Given the description of an element on the screen output the (x, y) to click on. 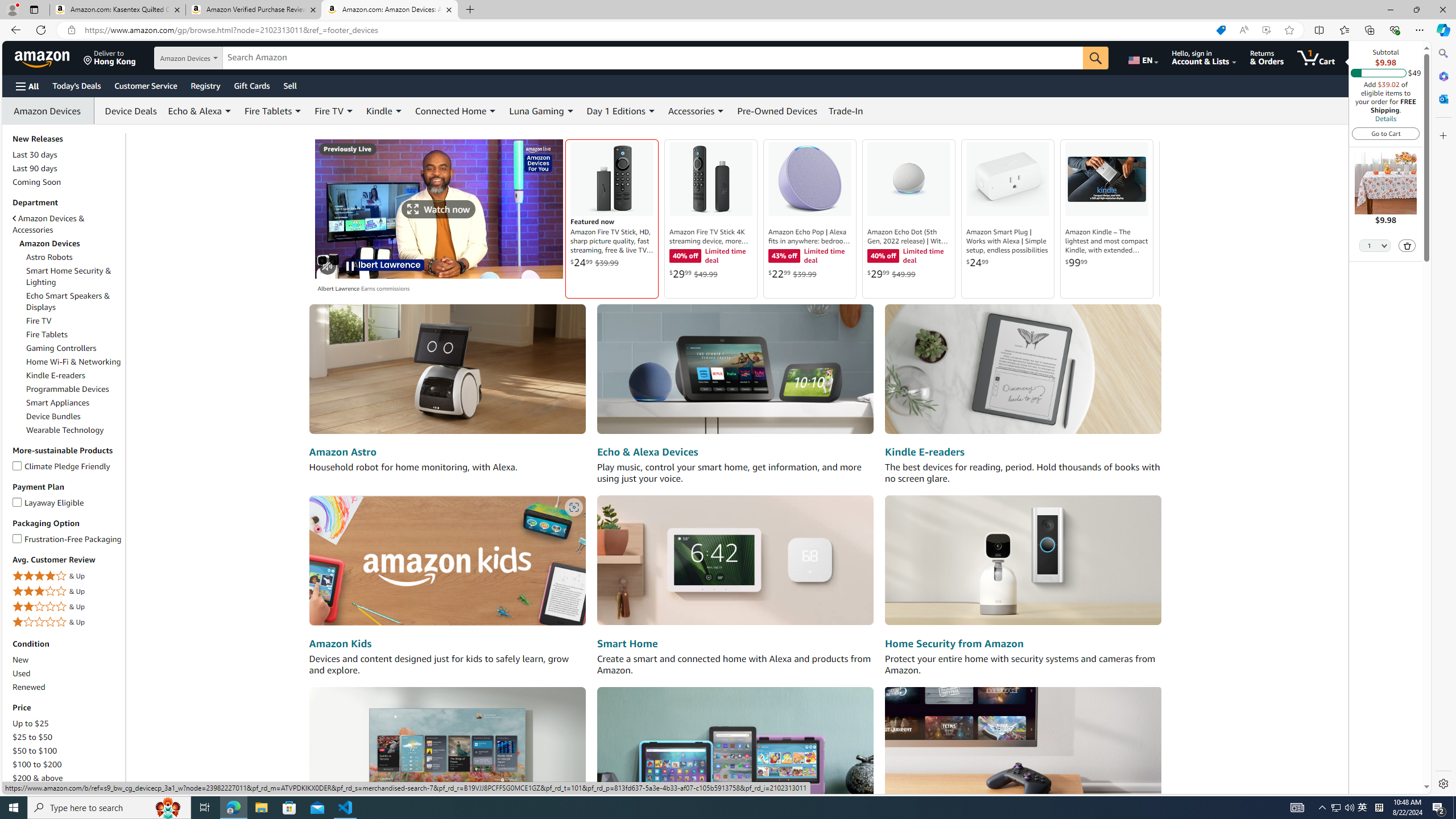
Expand Luna Gaming (569, 111)
New (67, 659)
Device Deals (128, 110)
Outlook (1442, 98)
Expand Kindle (397, 111)
Amazon (43, 57)
Skip to main content (48, 56)
Day 1 Editions (615, 110)
Kindle e-reader devices (1022, 369)
Search Amazon (652, 57)
$200 & above (37, 777)
